Given the description of an element on the screen output the (x, y) to click on. 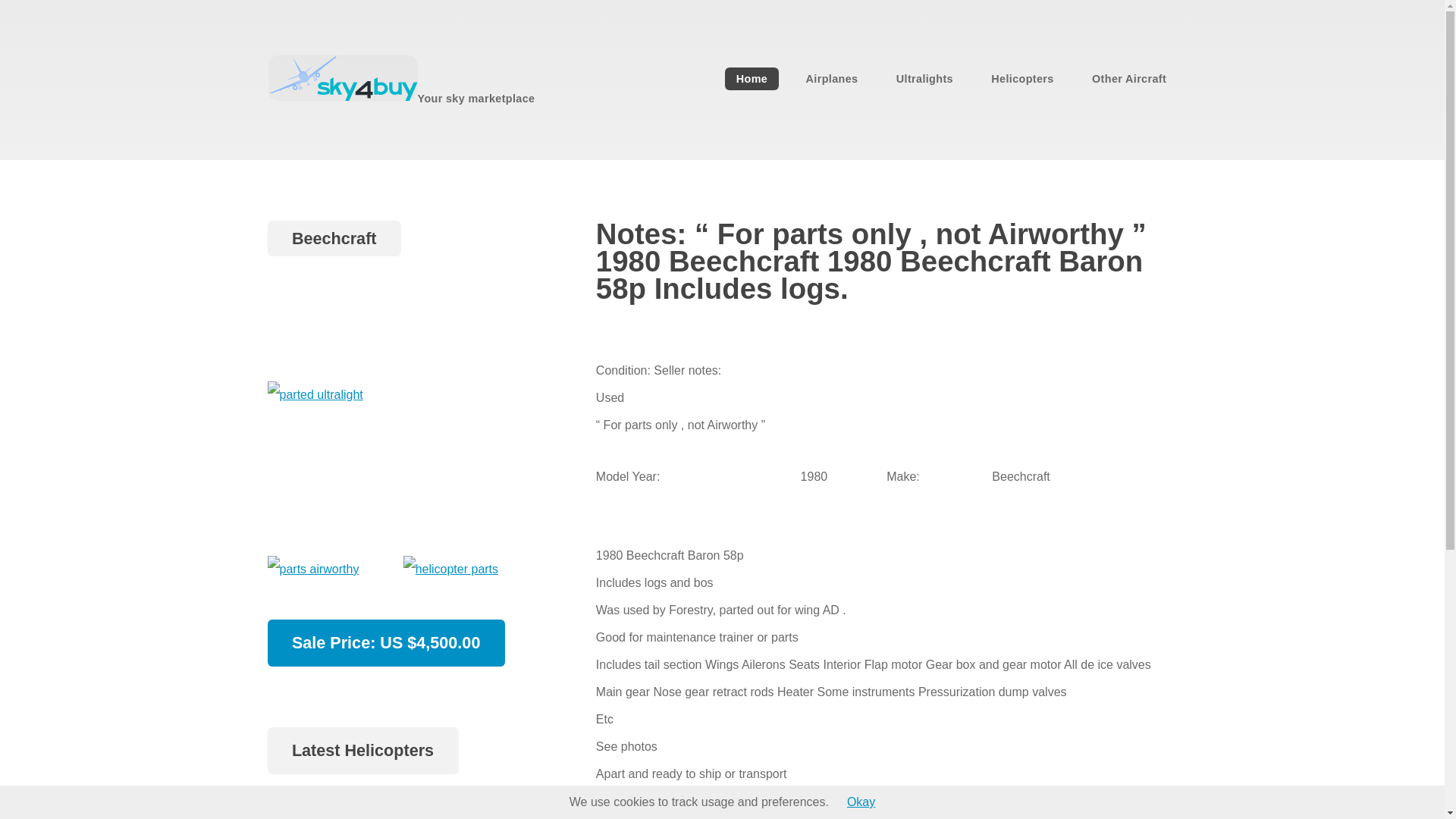
Helicopters (1021, 78)
Home (751, 78)
Beechcraft (333, 239)
Okay (861, 801)
Ultralights (924, 78)
Other Aircraft (1129, 78)
Latest Helicopters (362, 751)
Total Time Airframe and Engine: (352, 802)
Airplanes (831, 78)
